Given the description of an element on the screen output the (x, y) to click on. 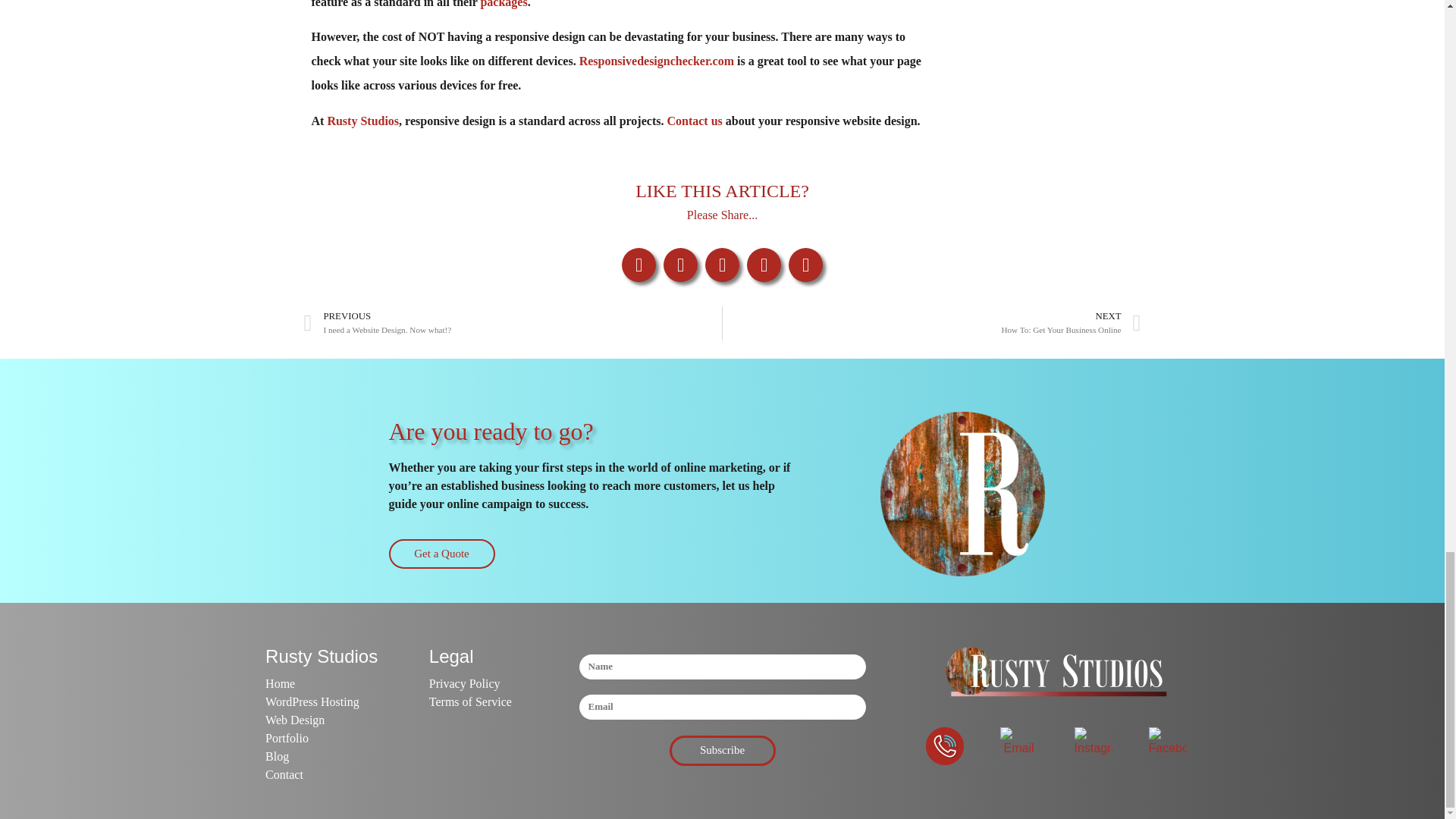
Home (320, 683)
Contact (320, 774)
Blog (320, 756)
Contact us (694, 120)
packages (503, 4)
Portfolio (320, 738)
WordPress Hosting (512, 323)
Rusty Studios (320, 701)
Get a Quote (362, 120)
